Given the description of an element on the screen output the (x, y) to click on. 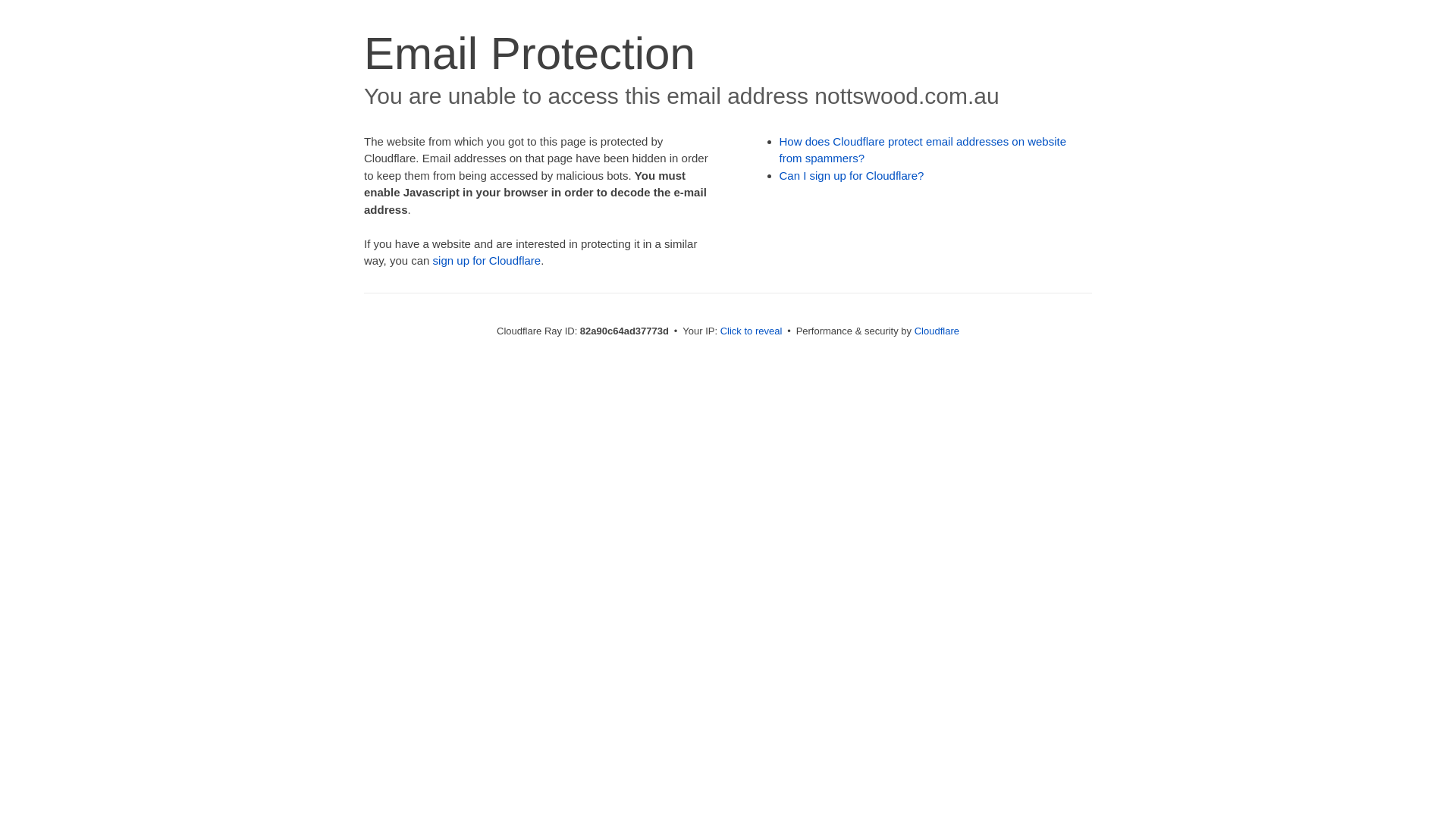
Can I sign up for Cloudflare? Element type: text (851, 175)
sign up for Cloudflare Element type: text (487, 260)
Cloudflare Element type: text (936, 330)
Click to reveal Element type: text (751, 330)
